Given the description of an element on the screen output the (x, y) to click on. 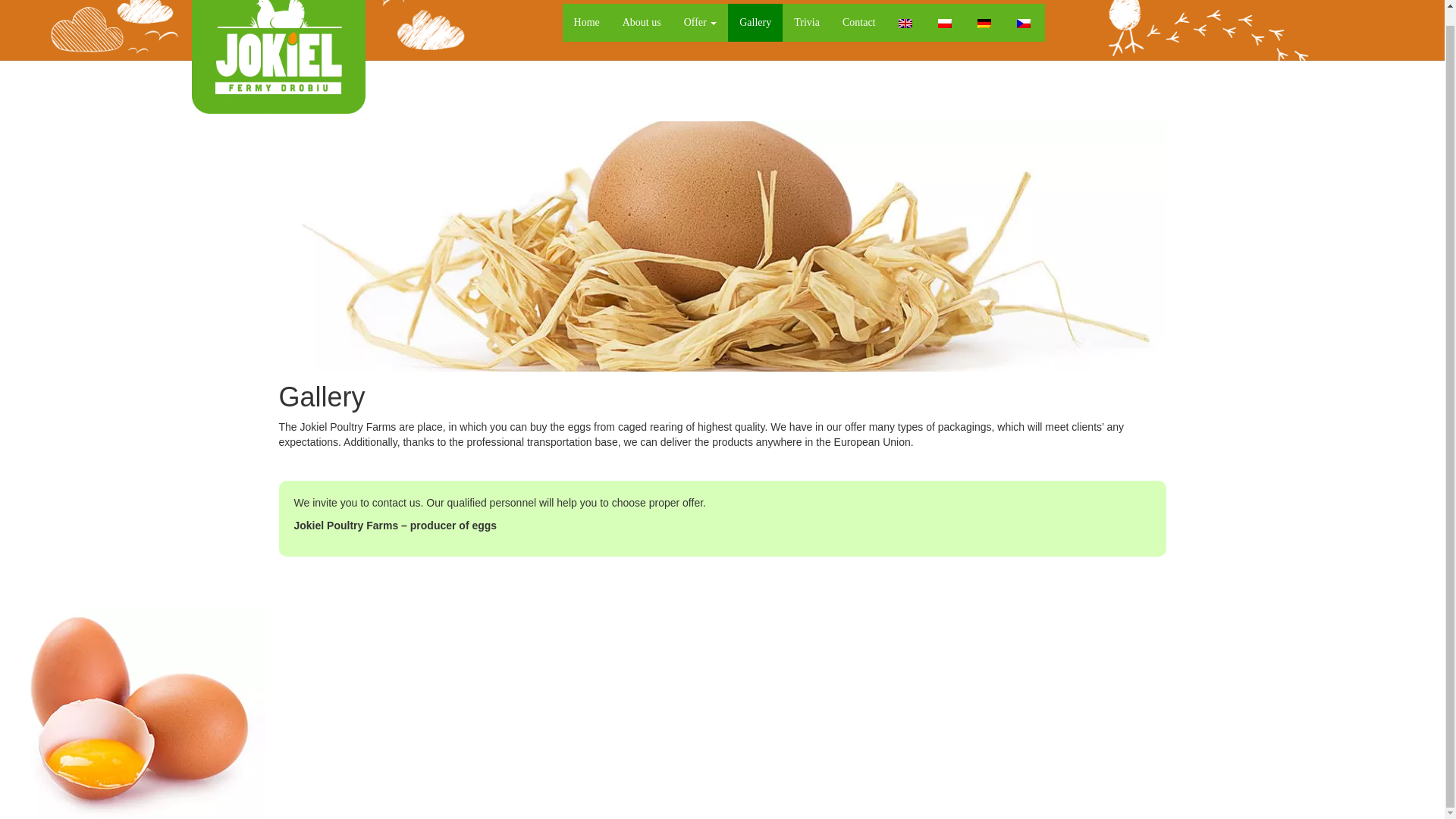
Gallery (755, 22)
Trivia (807, 22)
About us (641, 22)
About us (641, 22)
Gallery (755, 22)
Home (586, 22)
Offer (700, 22)
English (904, 22)
Trivia (807, 22)
polski (943, 22)
